Given the description of an element on the screen output the (x, y) to click on. 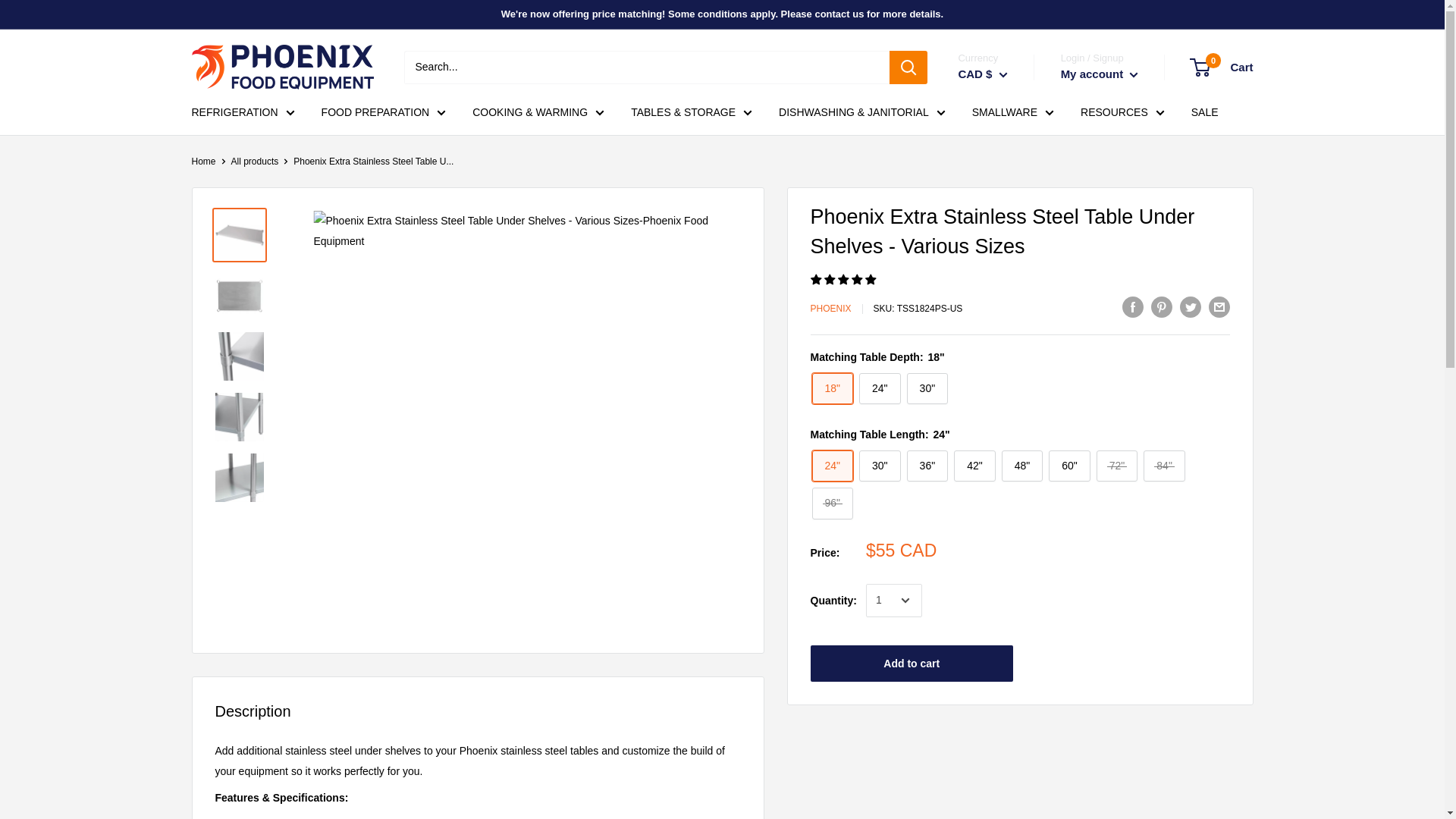
18" (831, 388)
48" (1022, 465)
42" (974, 465)
30" (880, 465)
60" (1069, 465)
30" (928, 388)
72" (1117, 465)
24" (831, 465)
36" (928, 465)
24" (880, 388)
